Given the description of an element on the screen output the (x, y) to click on. 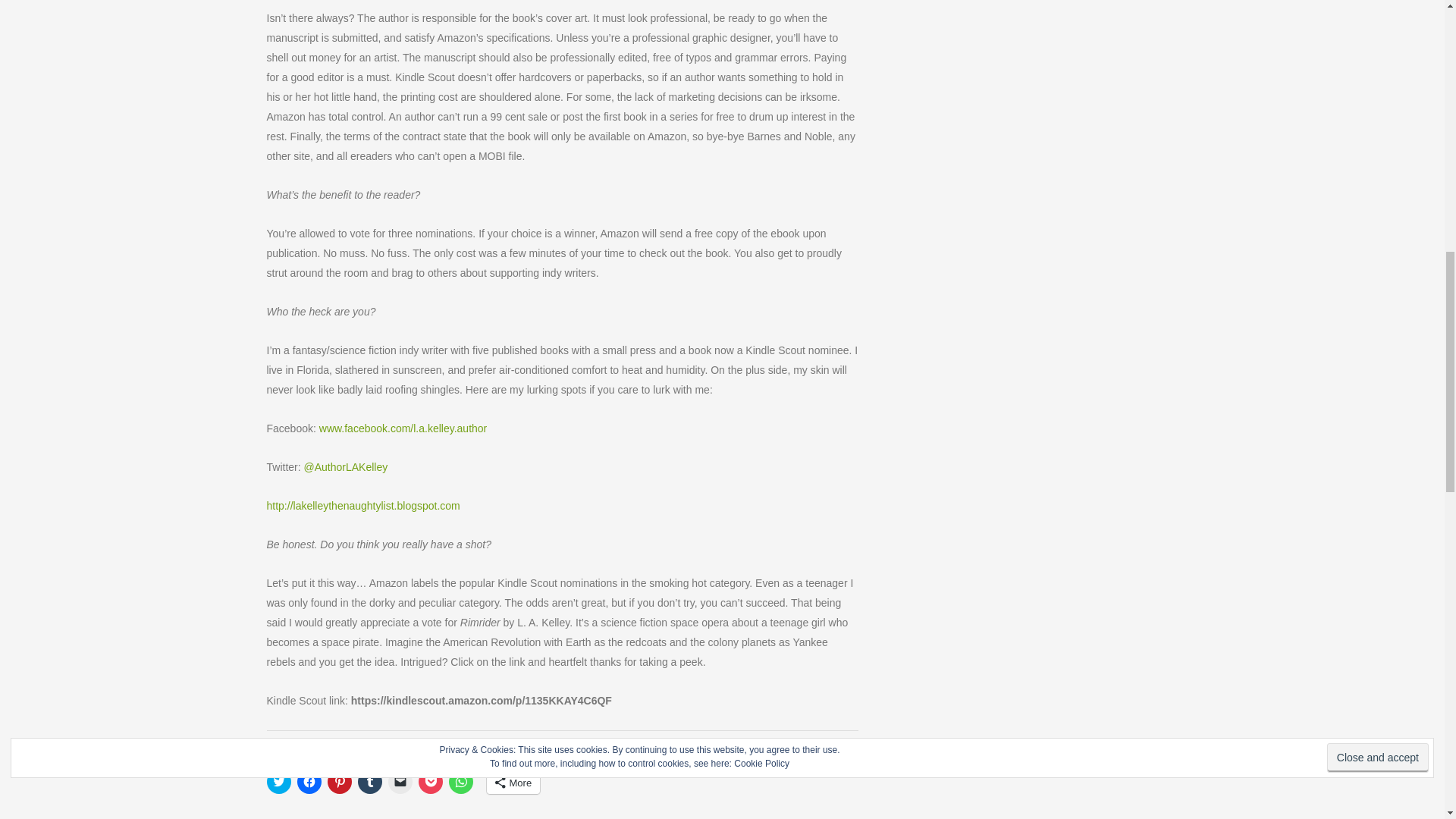
Click to share on Tumblr (369, 781)
Click to share on Twitter (278, 781)
Click to share on Pinterest (339, 781)
Click to share on Pocket (430, 781)
Click to share on Facebook (309, 781)
Click to share on WhatsApp (460, 781)
Click to email a link to a friend (400, 781)
